Given the description of an element on the screen output the (x, y) to click on. 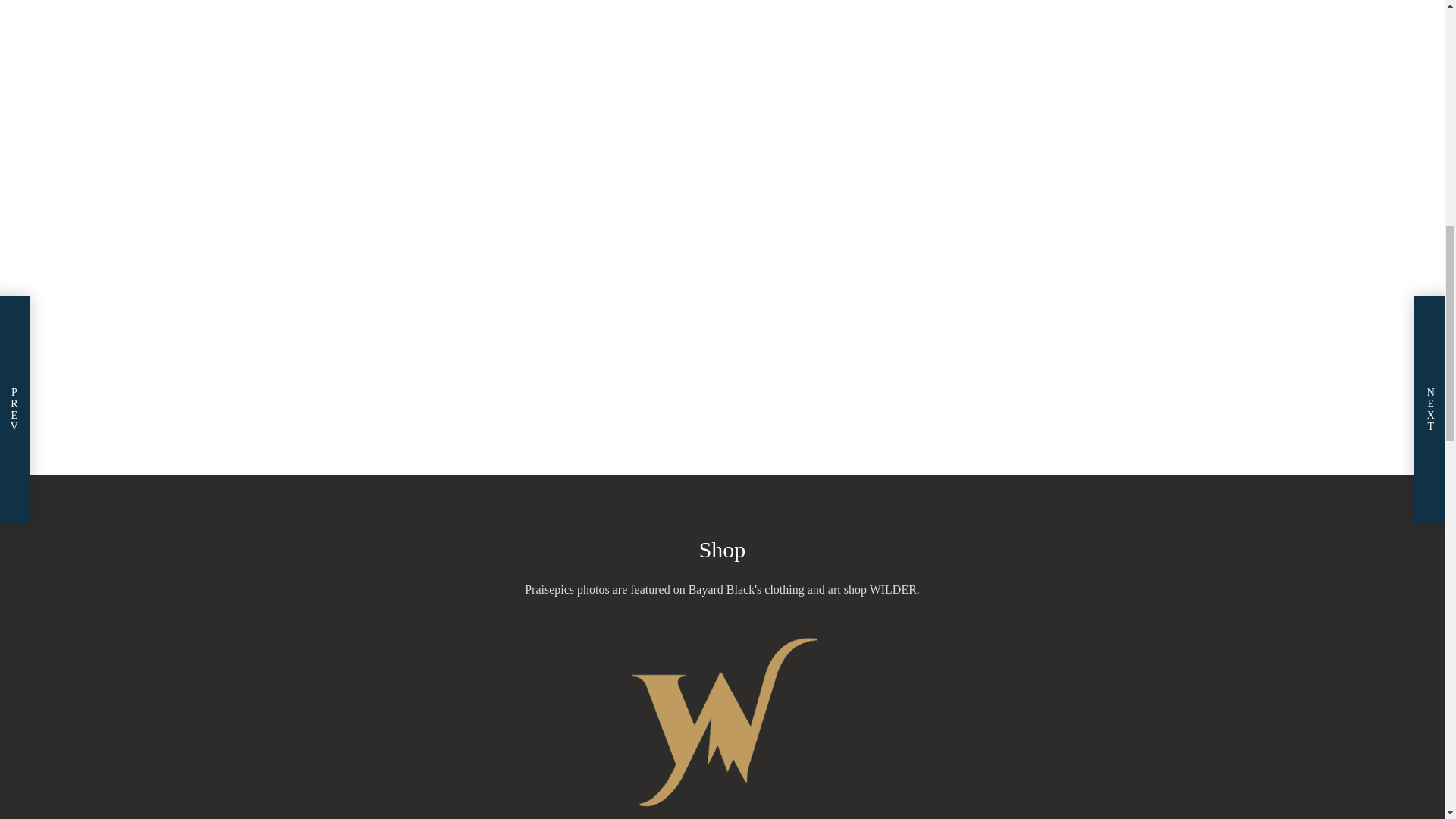
Search (947, 140)
